Given the description of an element on the screen output the (x, y) to click on. 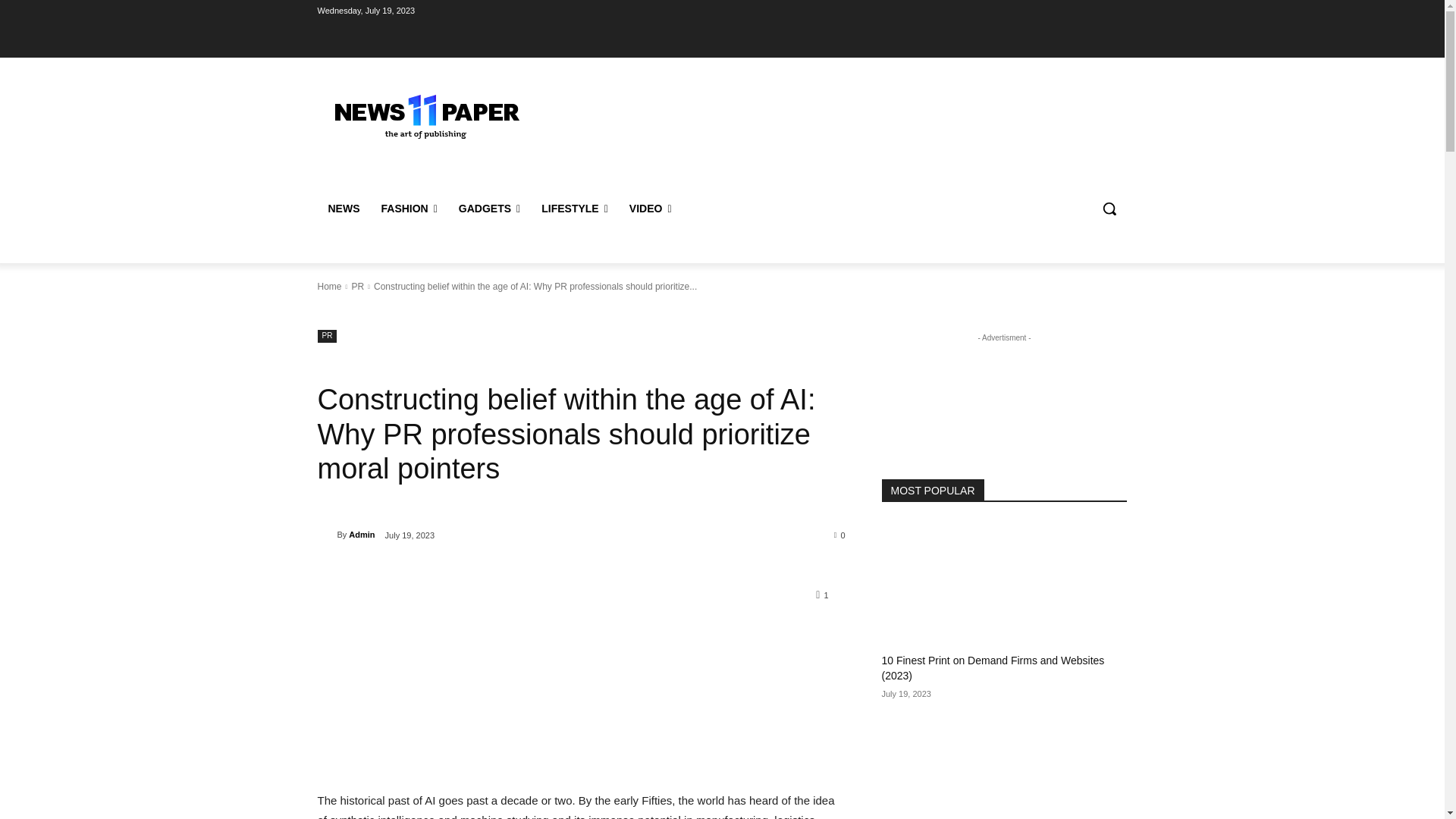
FASHION (407, 208)
NEWS (343, 208)
